Given the description of an element on the screen output the (x, y) to click on. 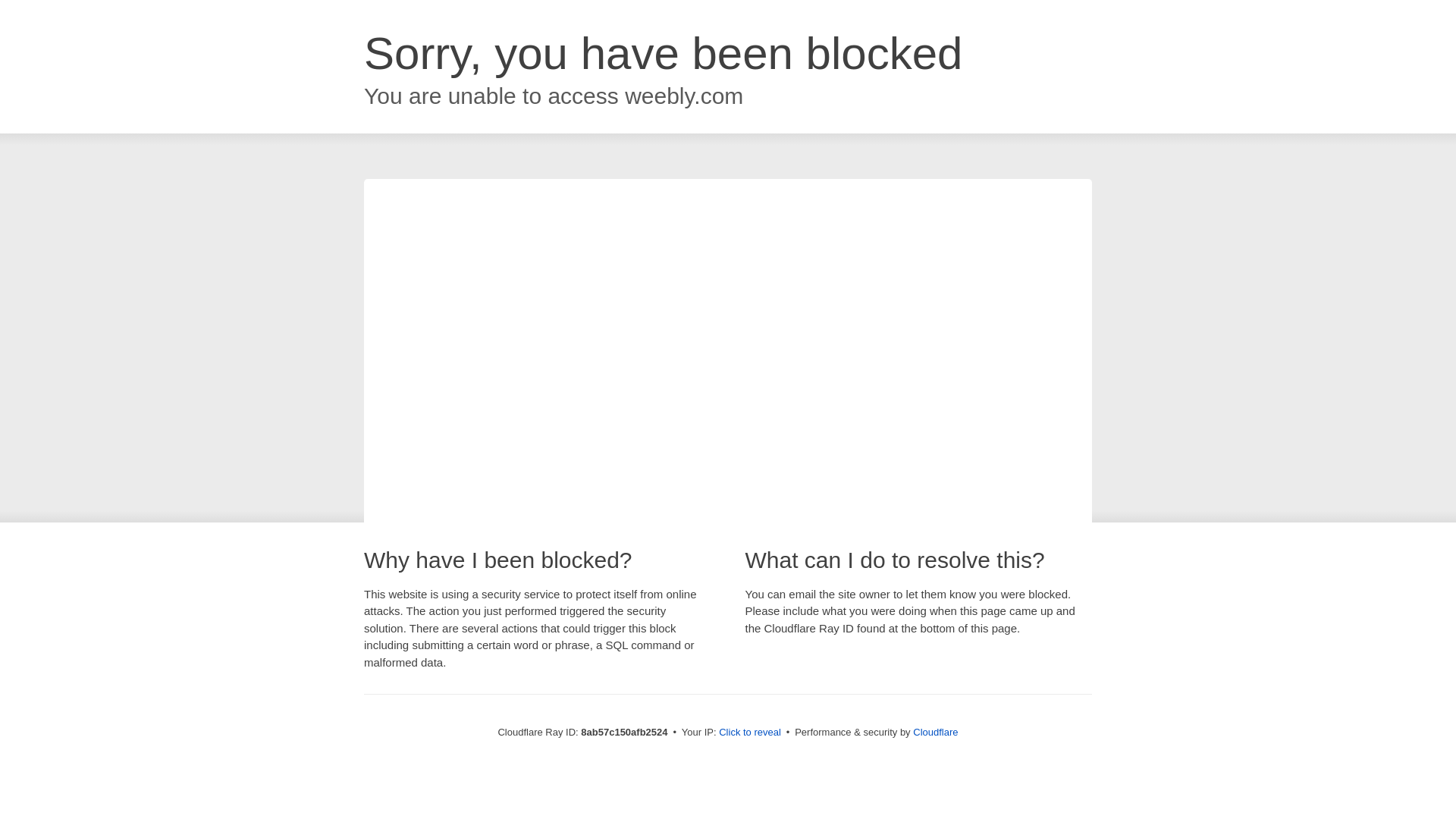
Cloudflare (935, 731)
Click to reveal (749, 732)
